Given the description of an element on the screen output the (x, y) to click on. 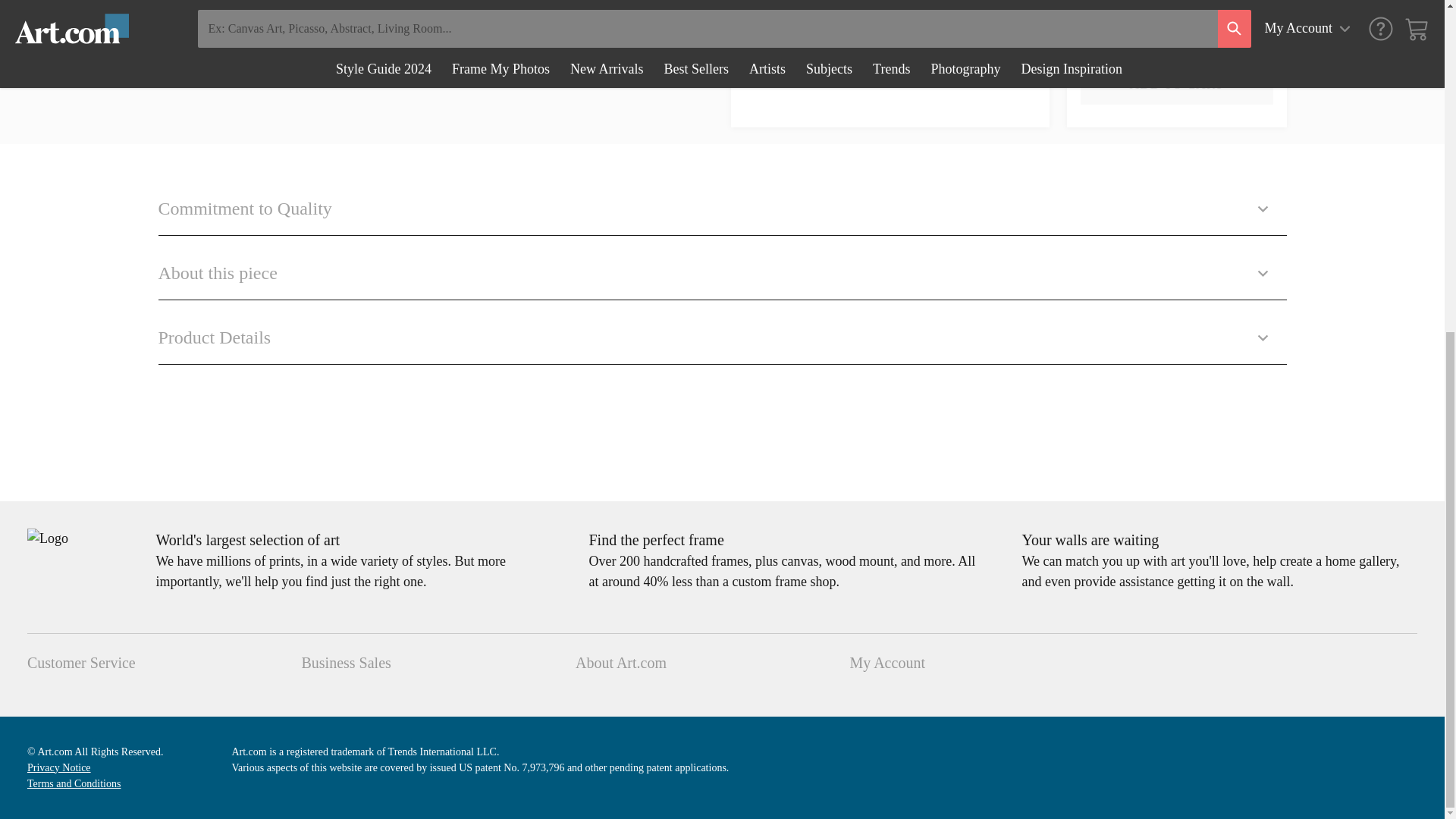
Product Details (721, 331)
About this piece (721, 267)
Commitment to Quality (721, 203)
